Given the description of an element on the screen output the (x, y) to click on. 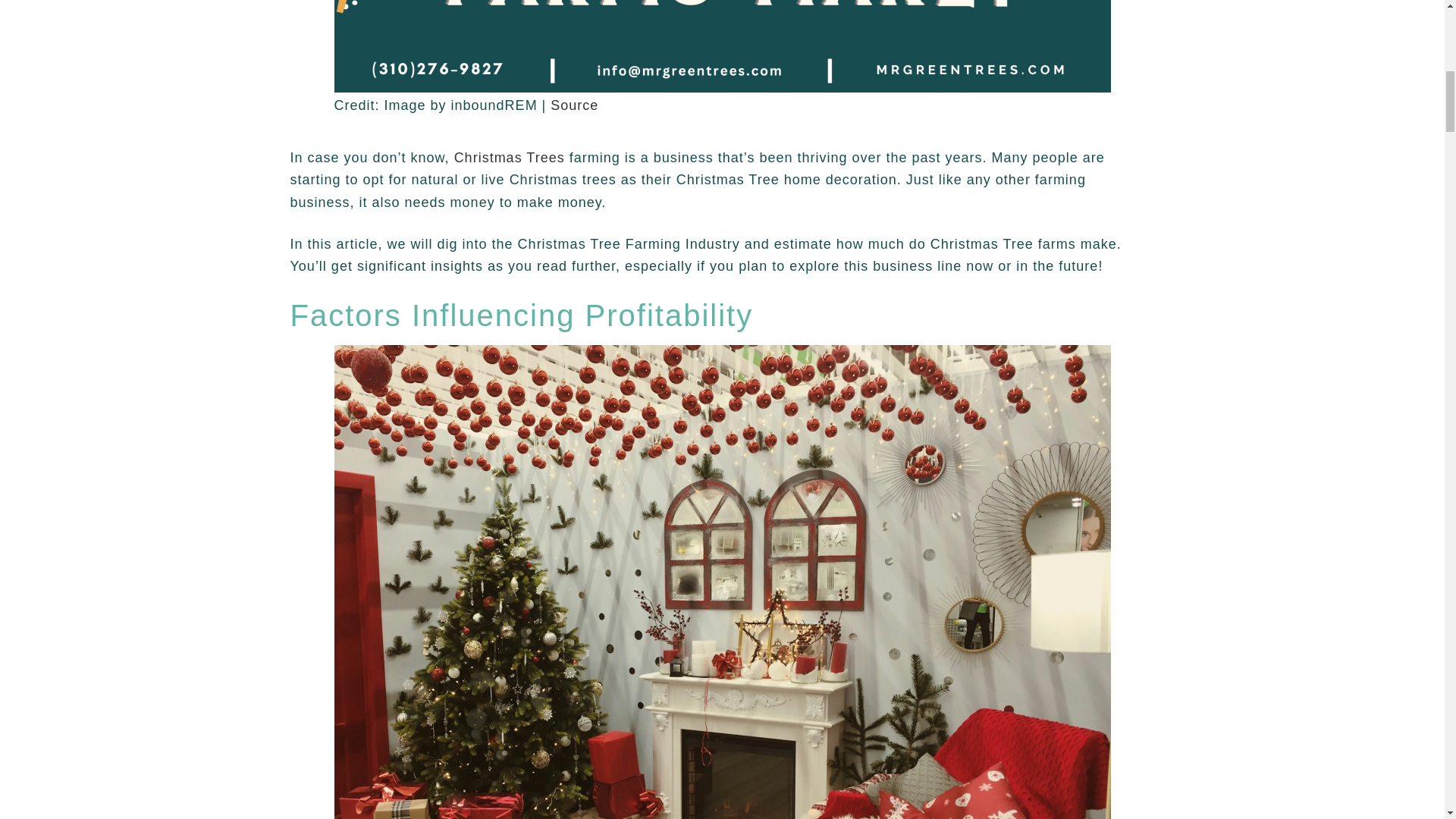
Christmas Trees (509, 157)
Source (574, 105)
